Given the description of an element on the screen output the (x, y) to click on. 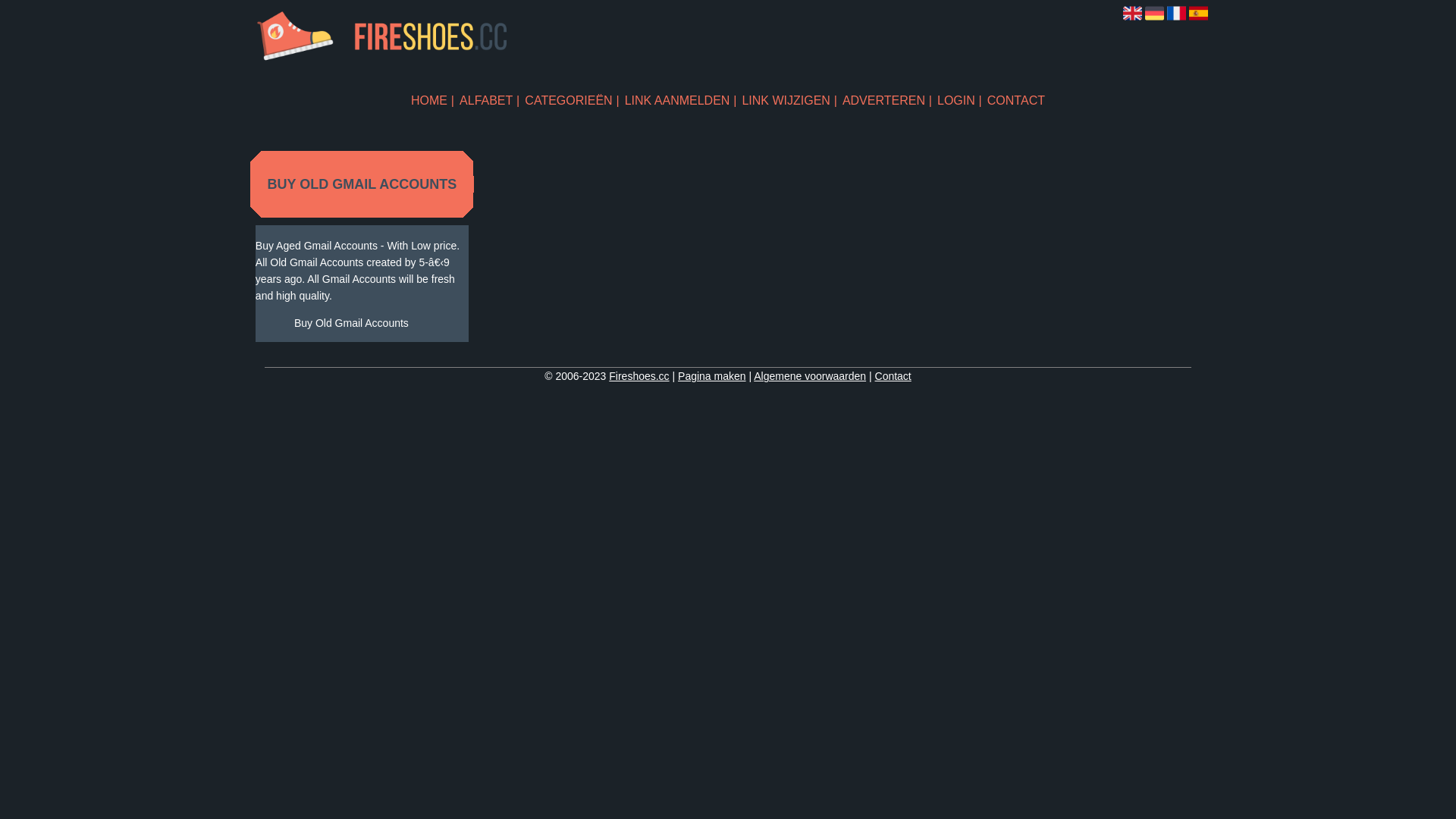
HOME Element type: text (432, 100)
LINK WIJZIGEN Element type: text (788, 100)
Buy Old Gmail Accounts Element type: text (351, 322)
CONTACT Element type: text (1015, 100)
Pagina maken Element type: text (711, 376)
LINK AANMELDEN Element type: text (680, 100)
ADVERTEREN Element type: text (886, 100)
Algemene voorwaarden Element type: text (809, 376)
Contact Element type: text (893, 376)
ALFABET Element type: text (489, 100)
Fireshoes.cc Element type: text (638, 376)
LOGIN Element type: text (959, 100)
